Given the description of an element on the screen output the (x, y) to click on. 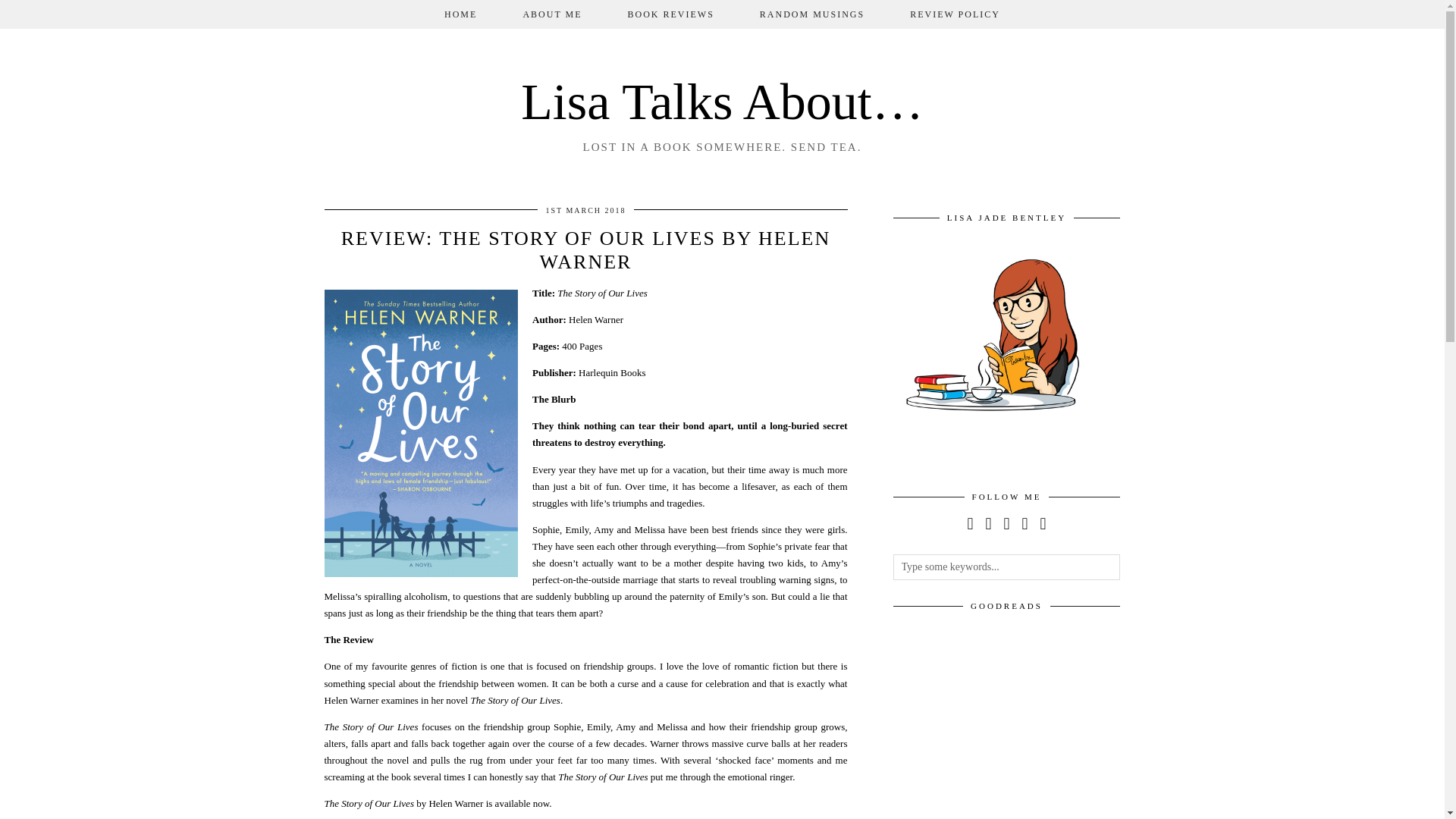
ABOUT ME (551, 14)
BOOK REVIEWS (670, 14)
REVIEW POLICY (954, 14)
HOME (460, 14)
RANDOM MUSINGS (811, 14)
